Given the description of an element on the screen output the (x, y) to click on. 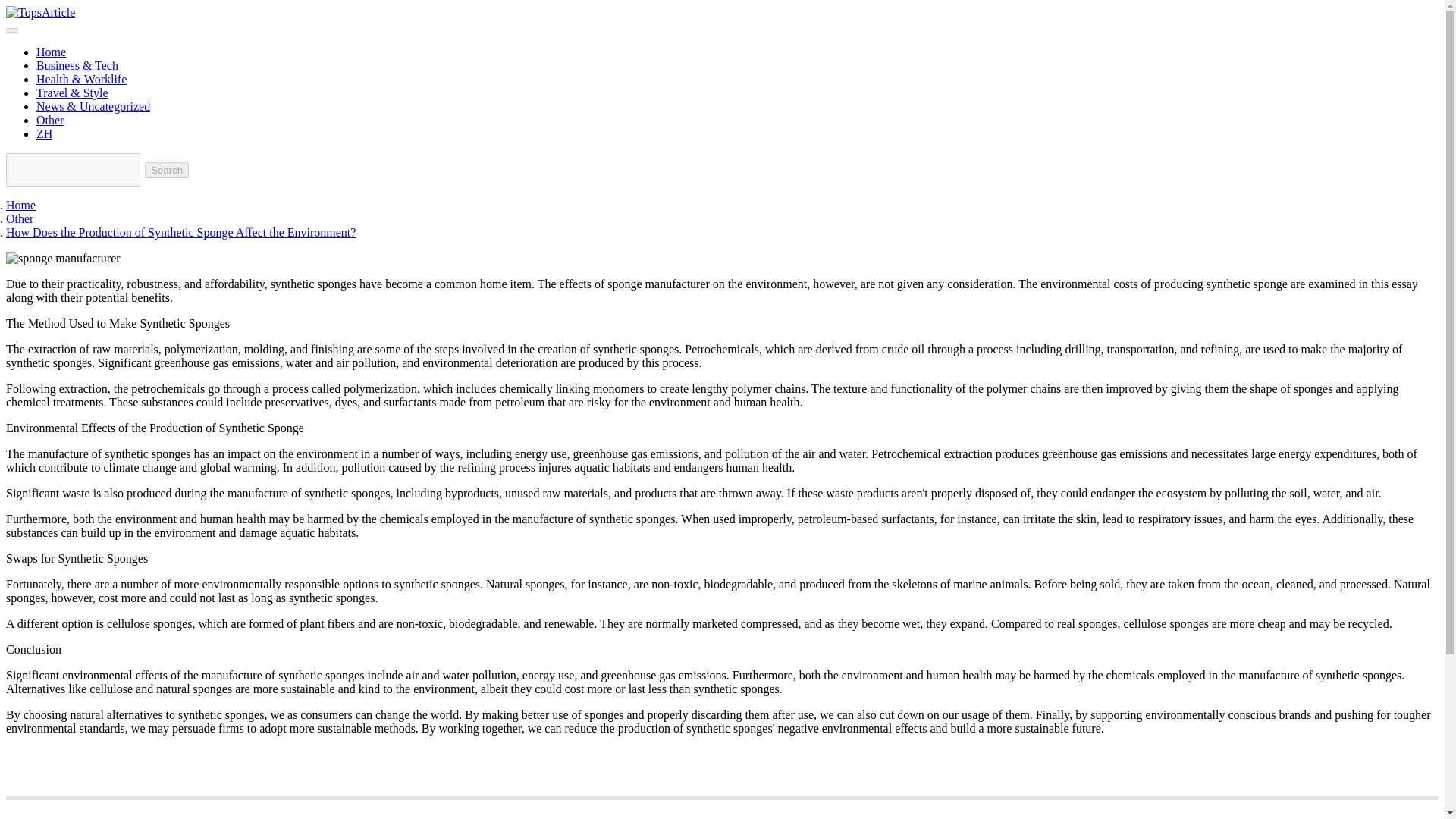
Search (166, 170)
Search (166, 170)
Other (19, 218)
ZH (44, 133)
Other (50, 119)
Home (50, 51)
Home (19, 205)
